Given the description of an element on the screen output the (x, y) to click on. 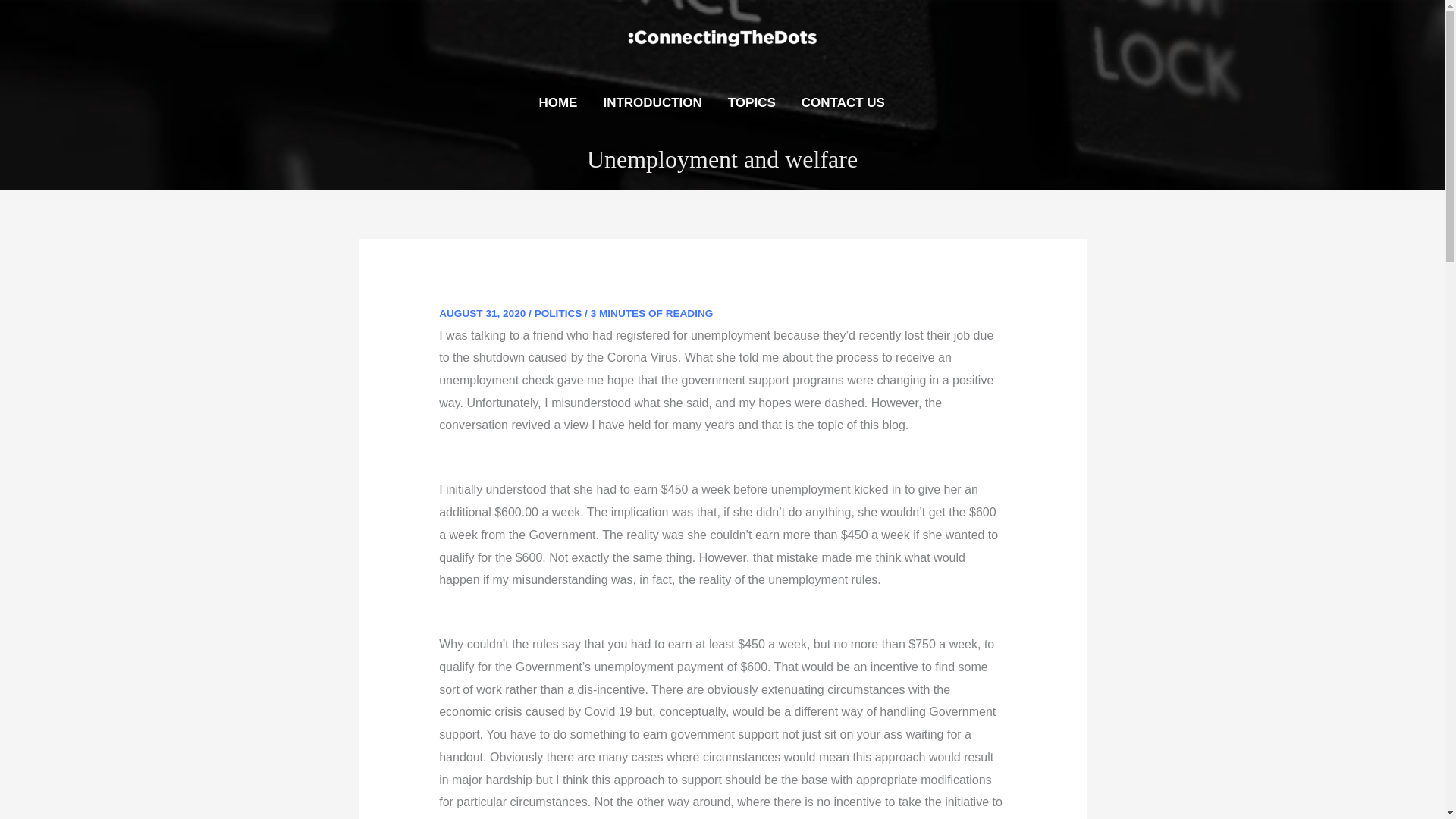
HOME (557, 102)
TOPICS (751, 102)
POLITICS (558, 313)
CONTACT US (843, 102)
INTRODUCTION (651, 102)
